Given the description of an element on the screen output the (x, y) to click on. 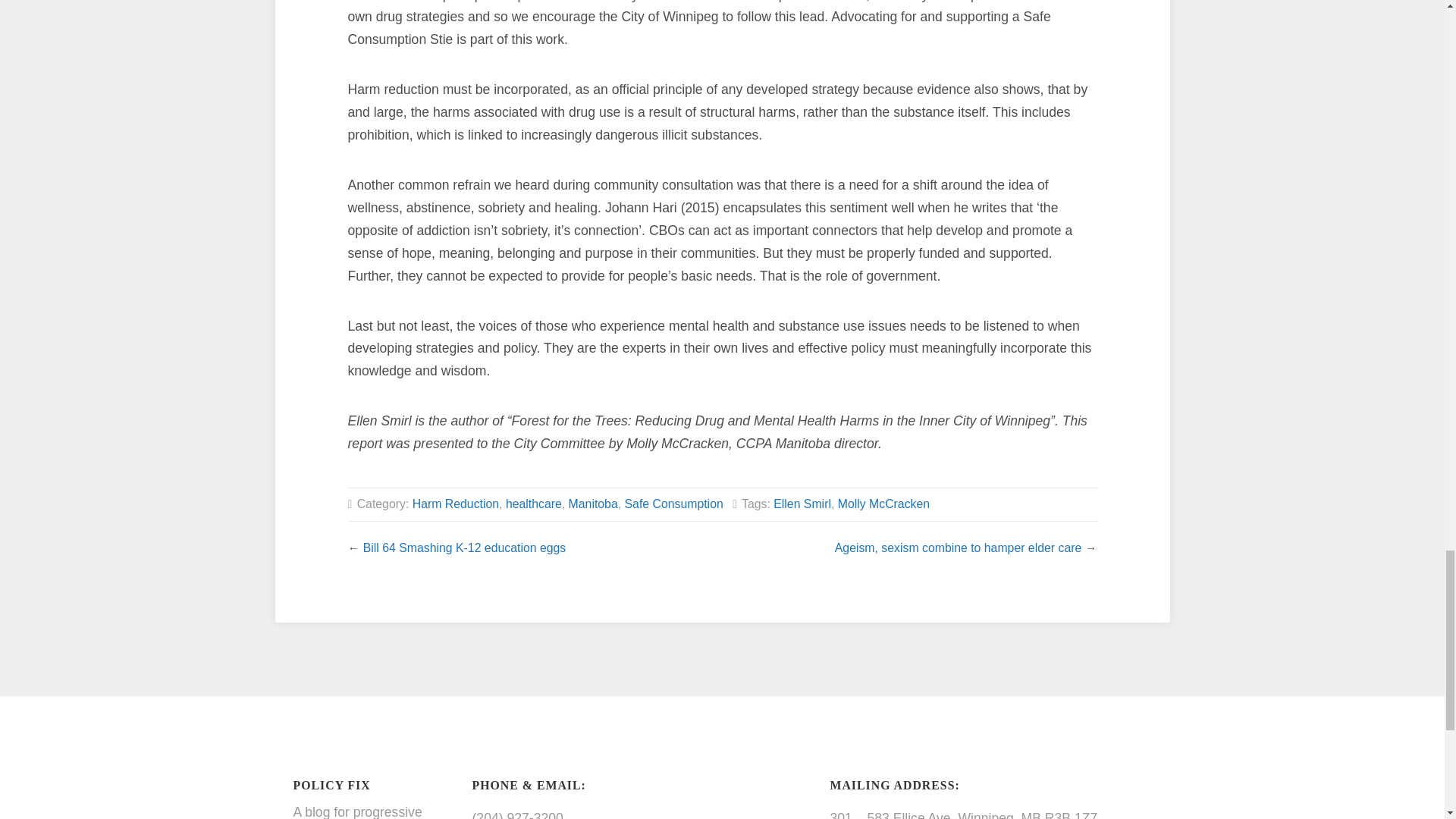
Manitoba (593, 503)
Molly McCracken (884, 503)
Safe Consumption (673, 503)
Bill 64 Smashing K-12 education eggs (464, 547)
Ageism, sexism combine to hamper elder care (957, 547)
Harm Reduction (455, 503)
Ellen Smirl (802, 503)
healthcare (533, 503)
